Given the description of an element on the screen output the (x, y) to click on. 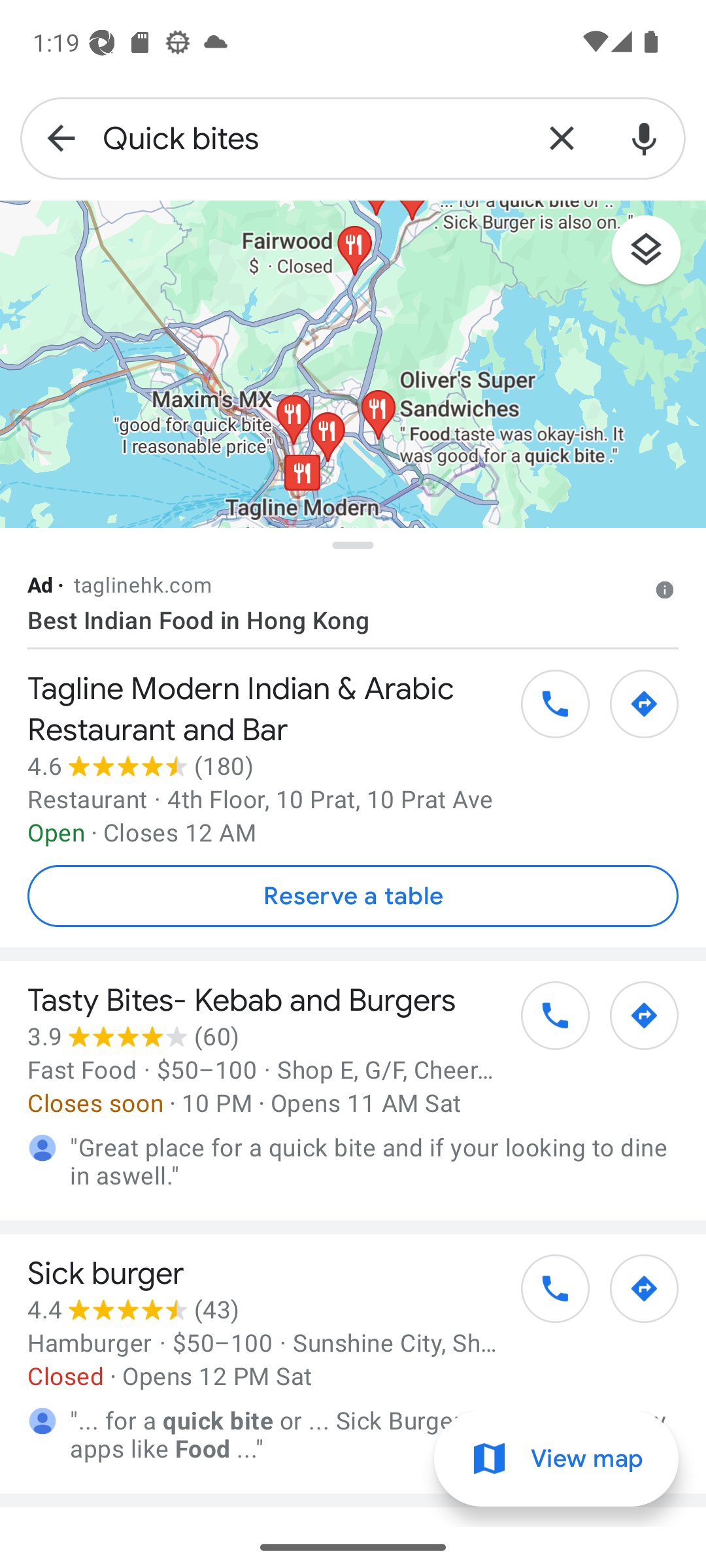
Back (61, 138)
Quick bites (311, 138)
Clear (562, 138)
Voice search (644, 138)
Layers (656, 256)
Reserve a table (352, 895)
View map Map view (556, 1458)
